Given the description of an element on the screen output the (x, y) to click on. 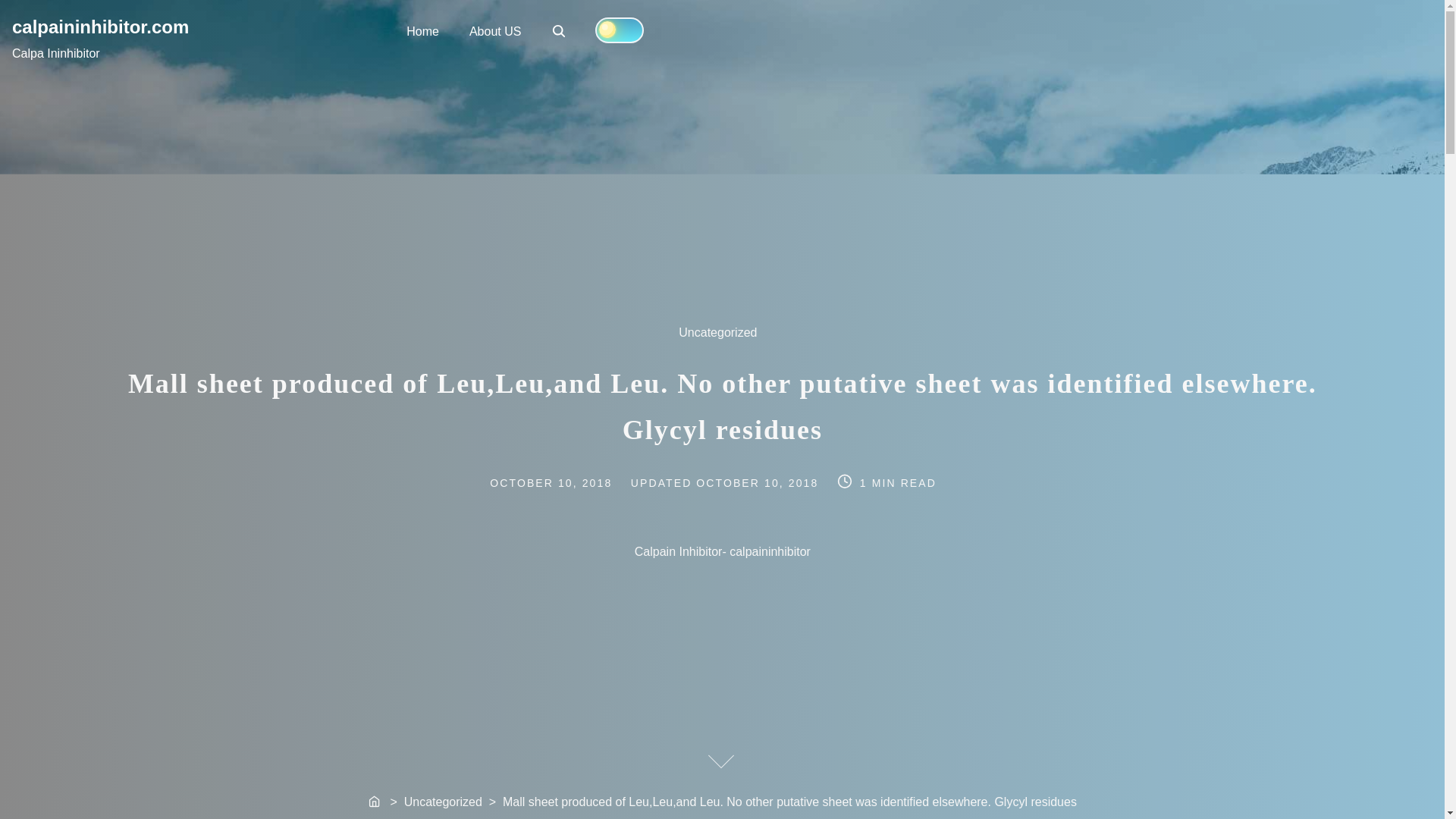
Home (375, 802)
OCTOBER 10, 2018 (559, 31)
Home (567, 480)
OCTOBER 10, 2018 (422, 30)
Search (759, 480)
Uncategorized (558, 30)
About US (726, 341)
calpaininhibitor.com (494, 30)
